Given the description of an element on the screen output the (x, y) to click on. 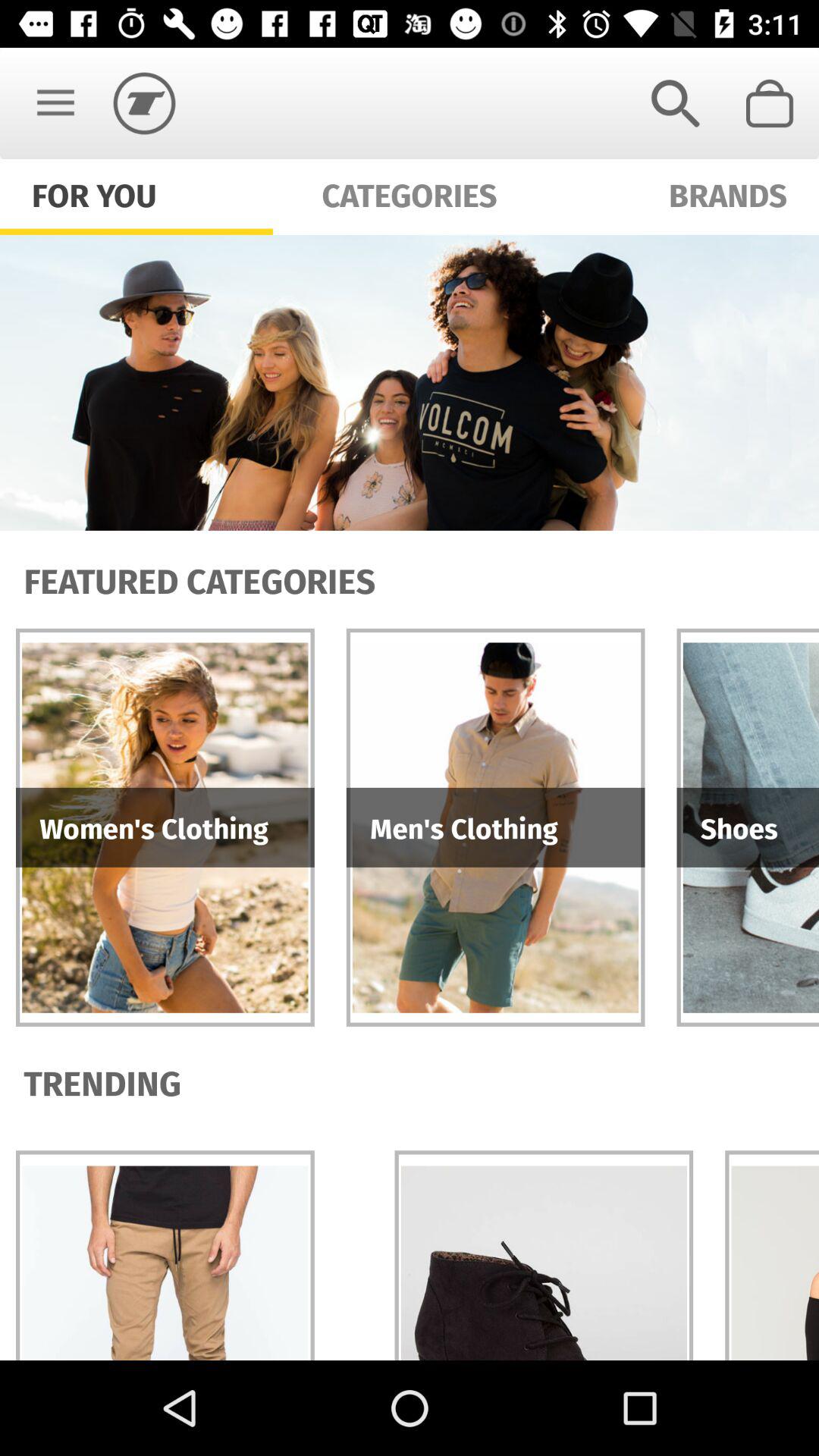
go to product suggestions (409, 382)
